Given the description of an element on the screen output the (x, y) to click on. 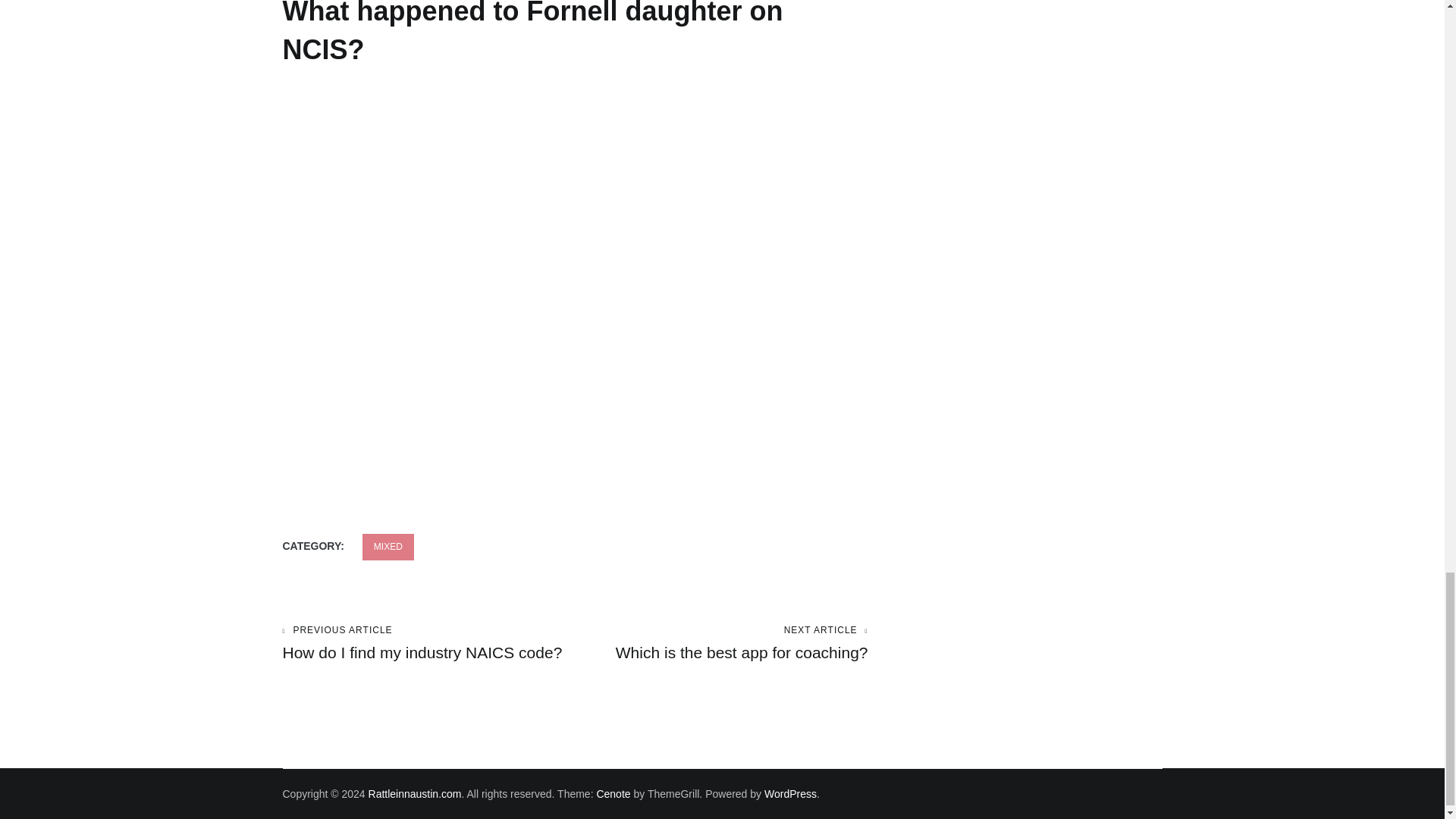
MIXED (387, 546)
Rattleinnaustin.com (414, 793)
